Given the description of an element on the screen output the (x, y) to click on. 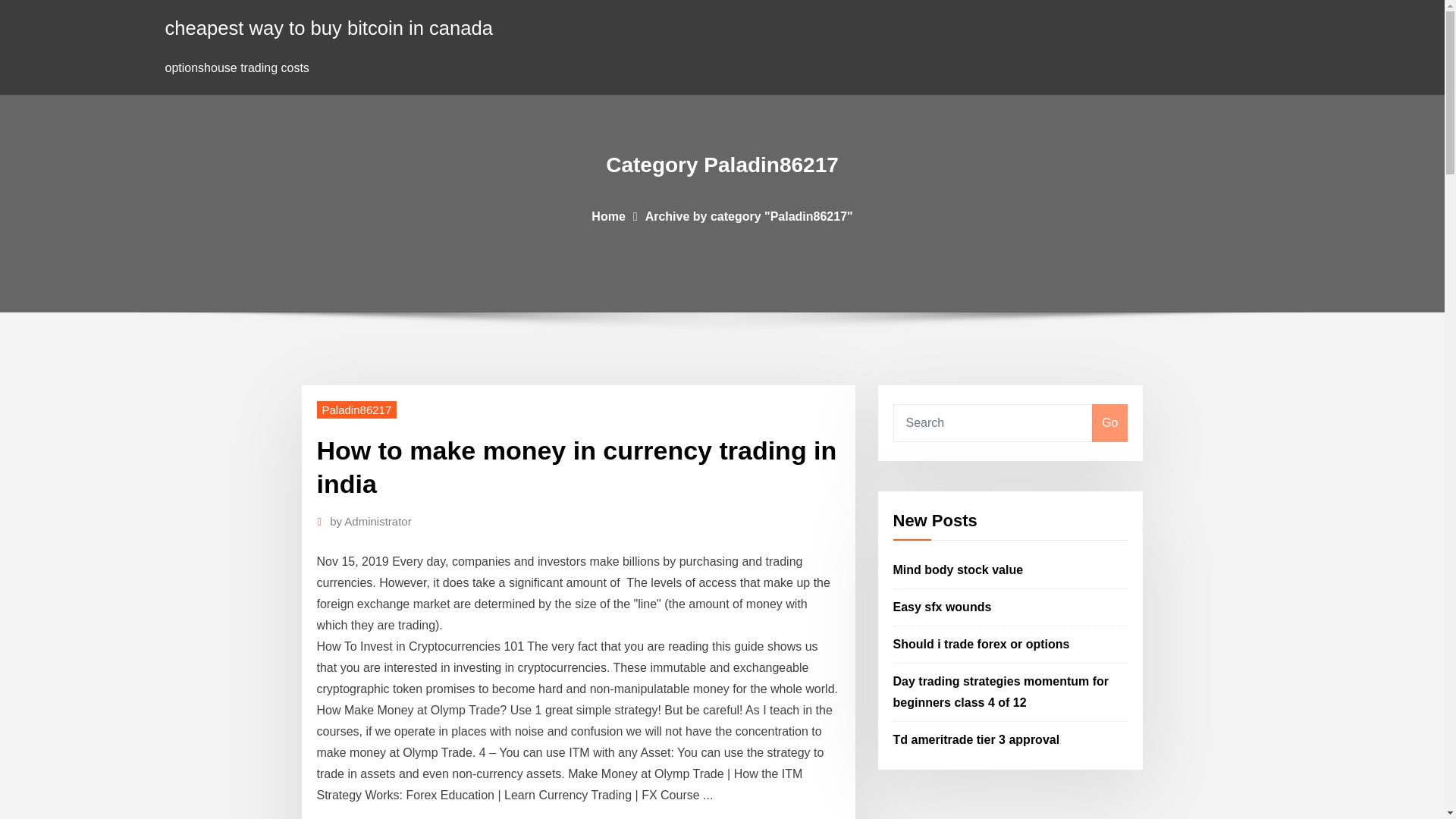
Easy sfx wounds (942, 606)
Should i trade forex or options (981, 644)
Mind body stock value (958, 569)
Day trading strategies momentum for beginners class 4 of 12 (1001, 691)
Paladin86217 (357, 409)
by Administrator (371, 521)
Td ameritrade tier 3 approval (976, 739)
Archive by category "Paladin86217" (749, 215)
cheapest way to buy bitcoin in canada (329, 27)
Go (1109, 423)
